Given the description of an element on the screen output the (x, y) to click on. 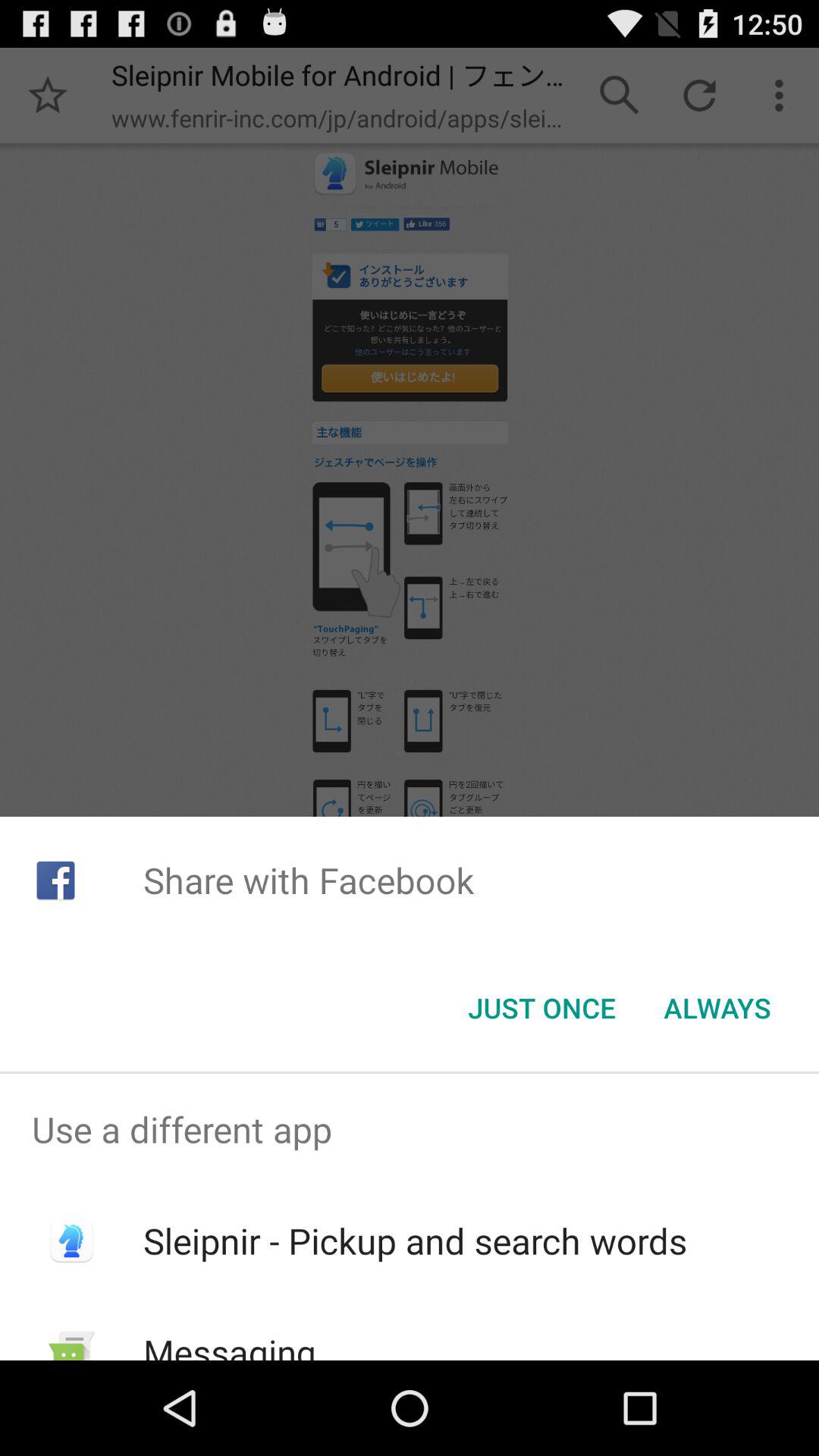
jump to messaging (229, 1344)
